Given the description of an element on the screen output the (x, y) to click on. 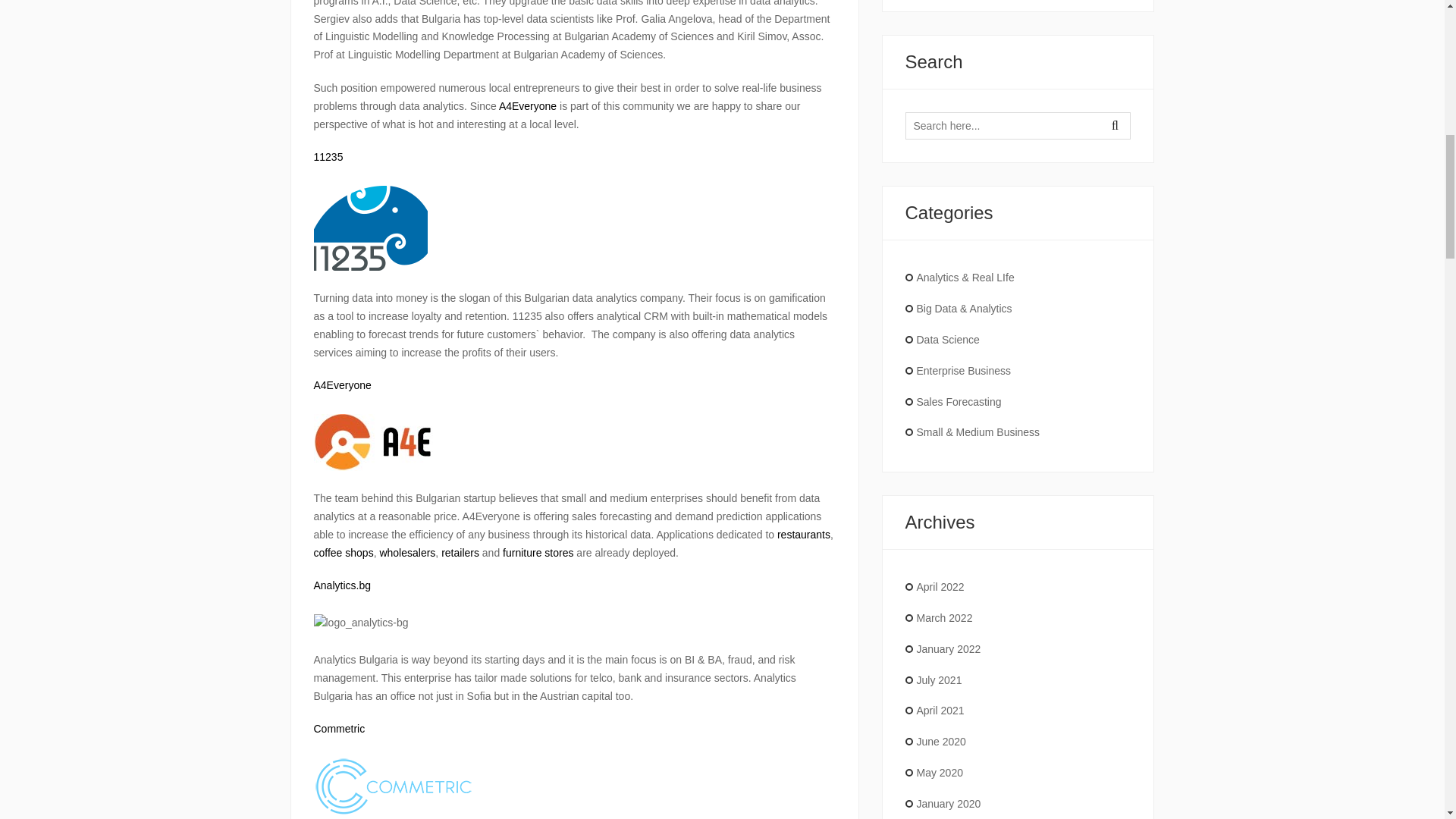
11235 (328, 156)
retailers (460, 552)
Analytics.bg (342, 585)
coffee shops (344, 552)
restaurants (803, 534)
A4Everyone (527, 105)
wholesalers (406, 552)
Commetric (339, 728)
furniture stores (537, 552)
A4Everyone (342, 385)
